Given the description of an element on the screen output the (x, y) to click on. 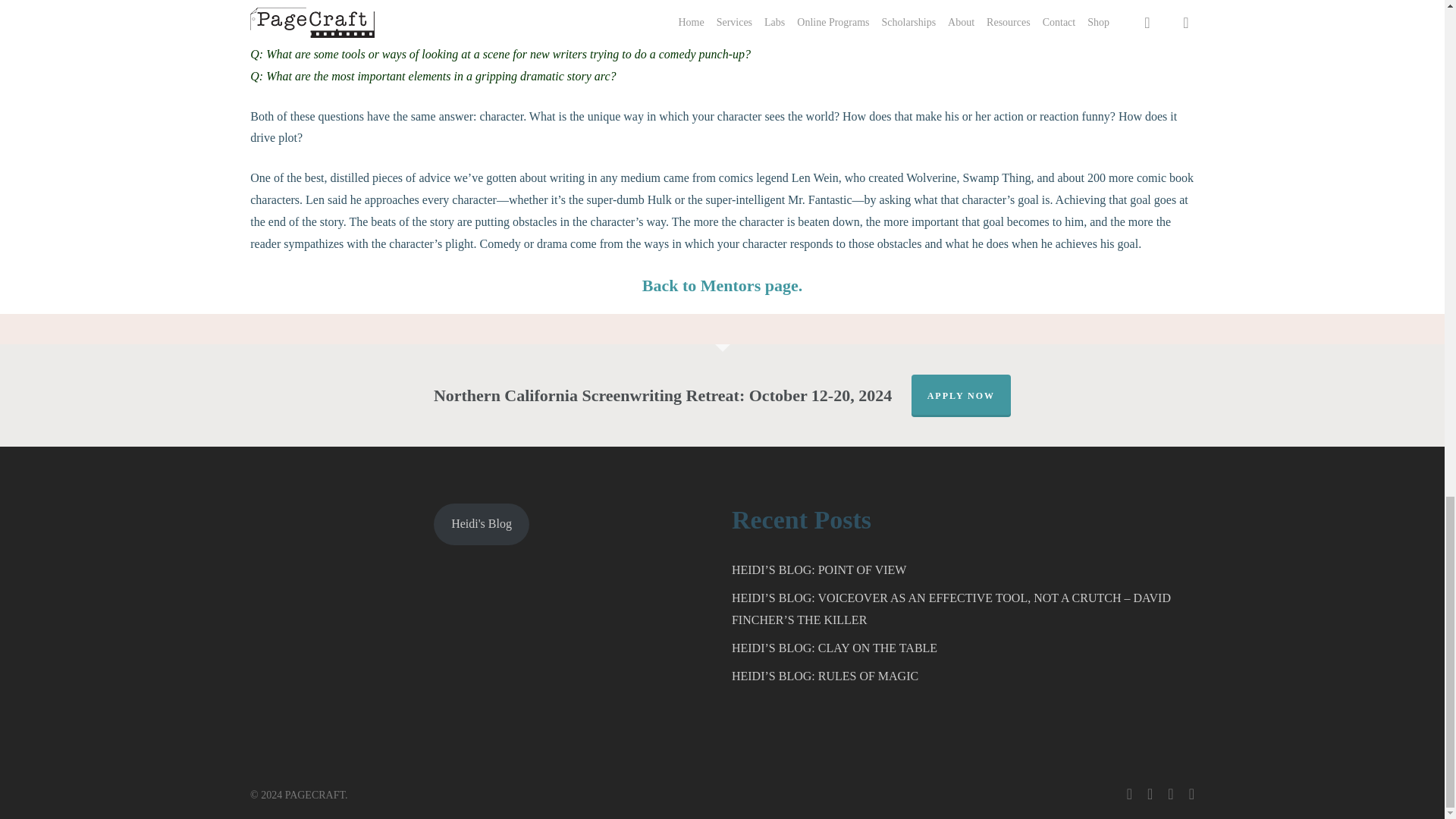
Instructors (722, 285)
